Given the description of an element on the screen output the (x, y) to click on. 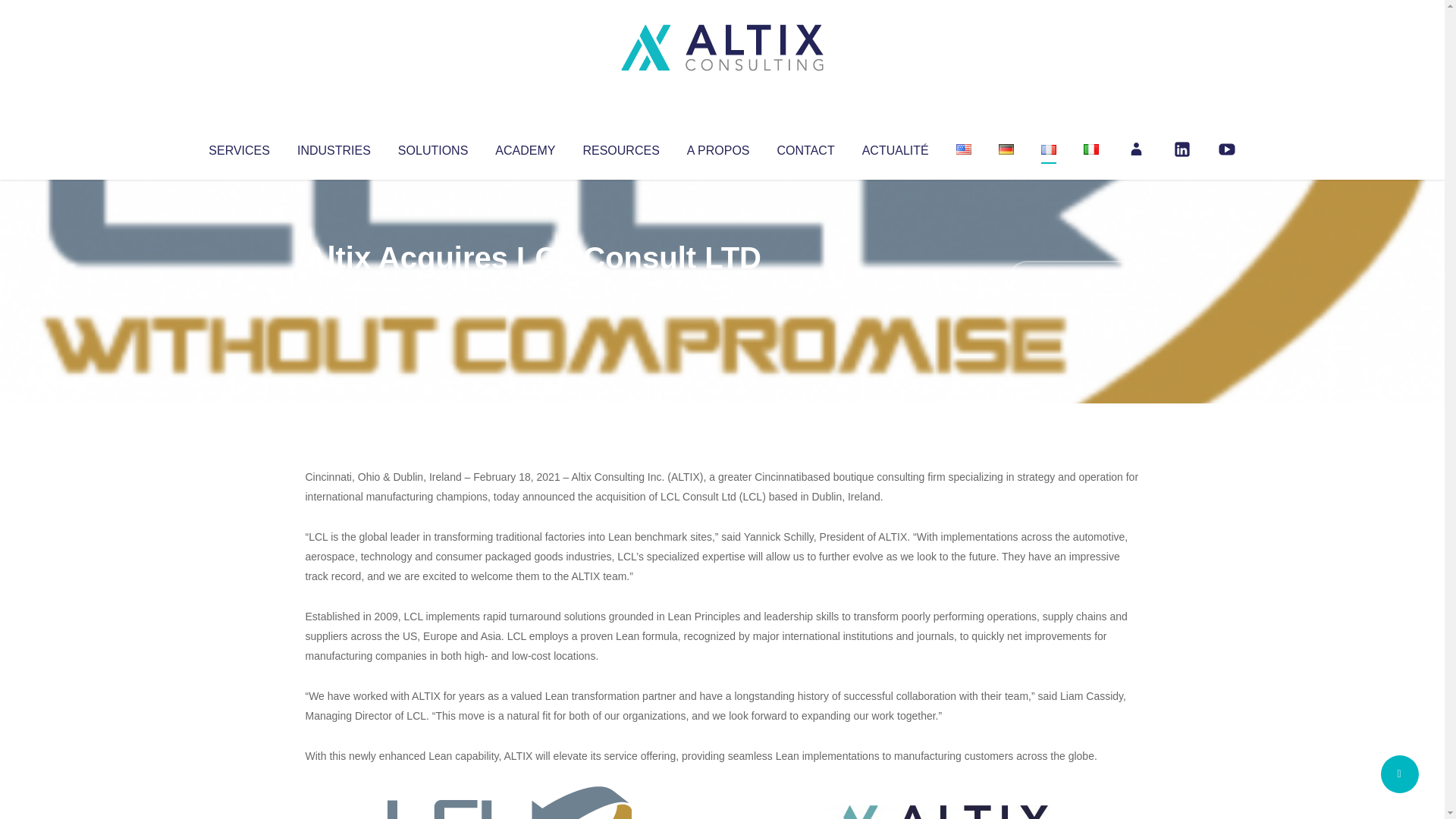
RESOURCES (620, 146)
Articles par Altix (333, 287)
A PROPOS (718, 146)
INDUSTRIES (334, 146)
Altix (333, 287)
SOLUTIONS (432, 146)
Uncategorized (530, 287)
SERVICES (238, 146)
ACADEMY (524, 146)
No Comments (1073, 278)
